Given the description of an element on the screen output the (x, y) to click on. 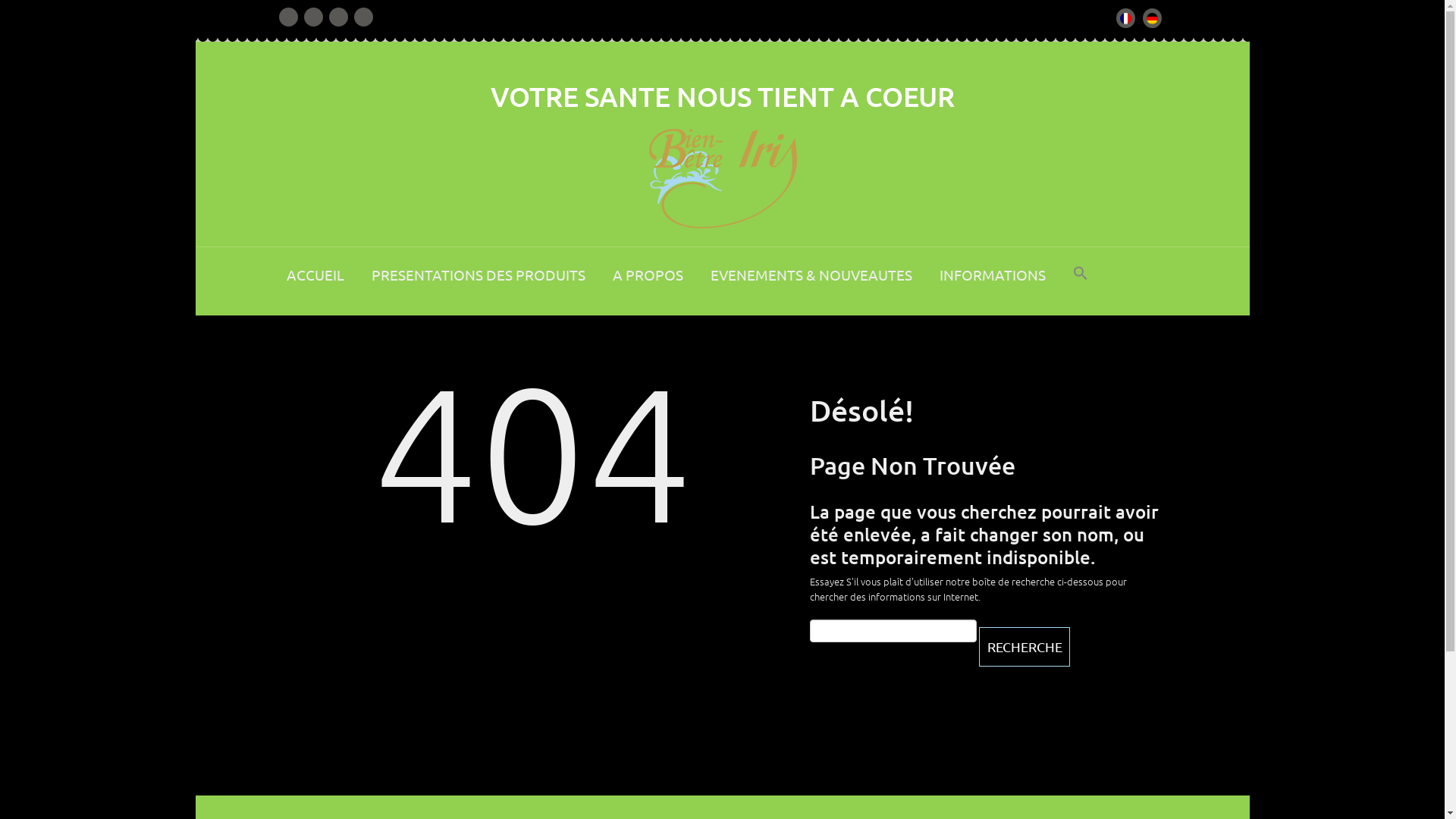
PRESENTATIONS DES PRODUITS Element type: text (478, 282)
Votre sante nous tient a coeur Element type: hover (721, 178)
EVENEMENTS & NOUVEAUTES Element type: text (810, 282)
ACCUEIL Element type: text (315, 282)
INFORMATIONS Element type: text (991, 282)
A PROPOS Element type: text (647, 282)
recherche Element type: text (1023, 646)
